Given the description of an element on the screen output the (x, y) to click on. 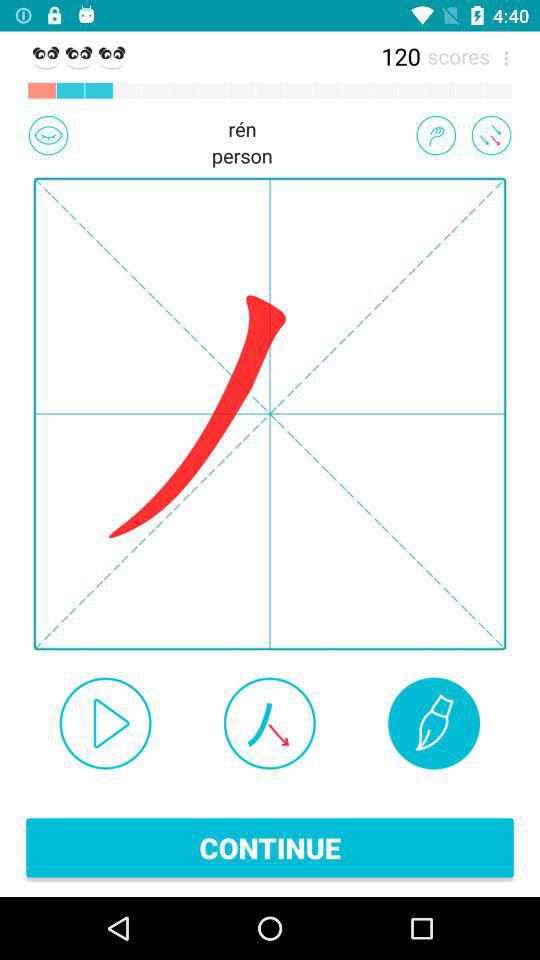
turn on icon to the right of the person item (436, 135)
